Given the description of an element on the screen output the (x, y) to click on. 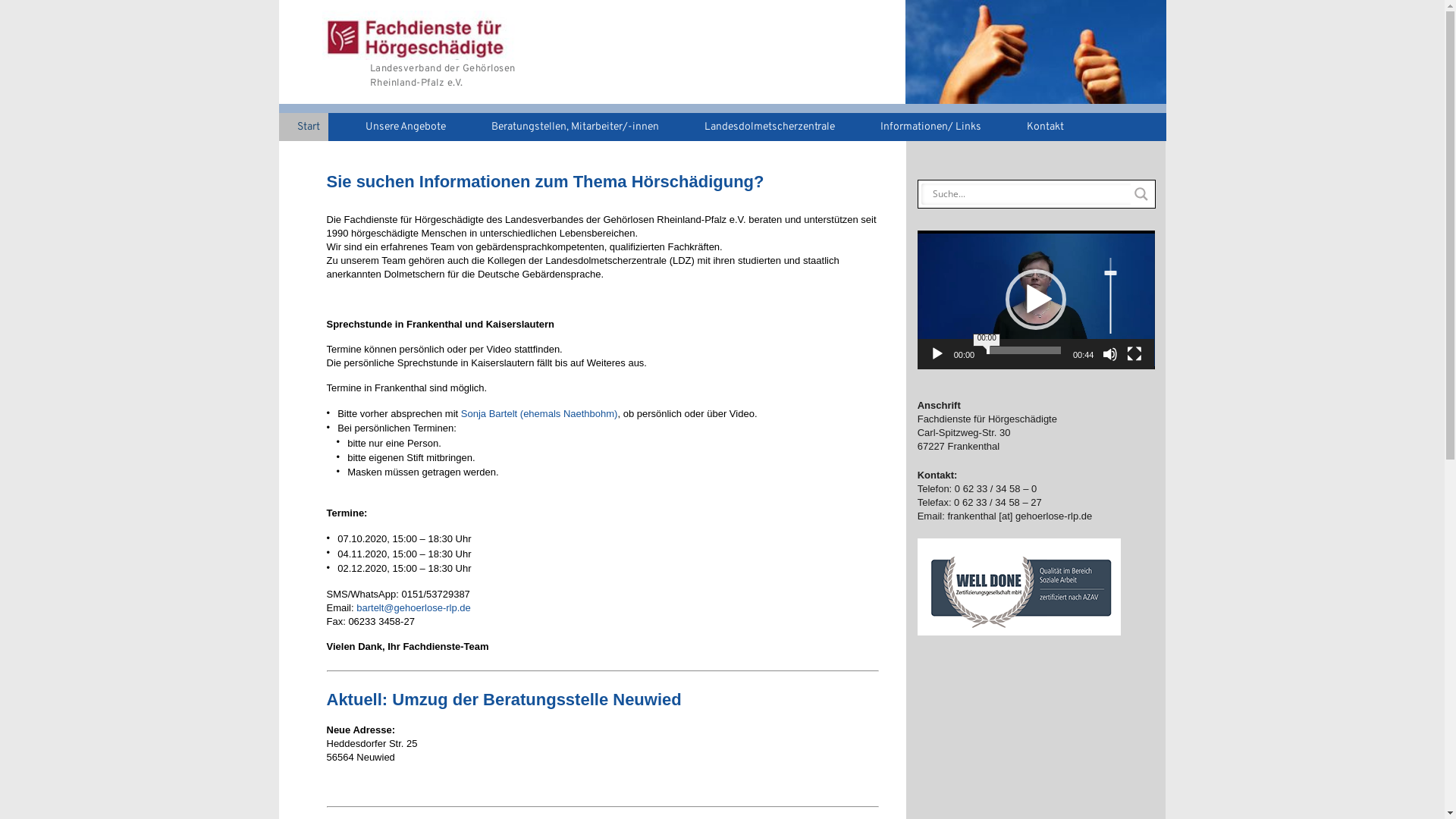
Unsere Angebote Element type: text (400, 126)
Kontakt Element type: text (1040, 126)
Use Up/Down Arrow keys to increase or decrease volume. Element type: text (1110, 294)
Play Element type: hover (936, 353)
Landesdolmetscherzentrale Element type: text (763, 126)
Informationen/ Links Element type: text (924, 126)
Sonja Bartelt (ehemals Naethbohm) Element type: text (539, 413)
Beratungstellen, Mitarbeiter/-innen Element type: text (570, 126)
Fullscreen Element type: hover (1134, 353)
Mute Element type: hover (1109, 353)
Start Element type: text (303, 126)
bartelt@gehoerlose-rlp.de Element type: text (413, 607)
